Given the description of an element on the screen output the (x, y) to click on. 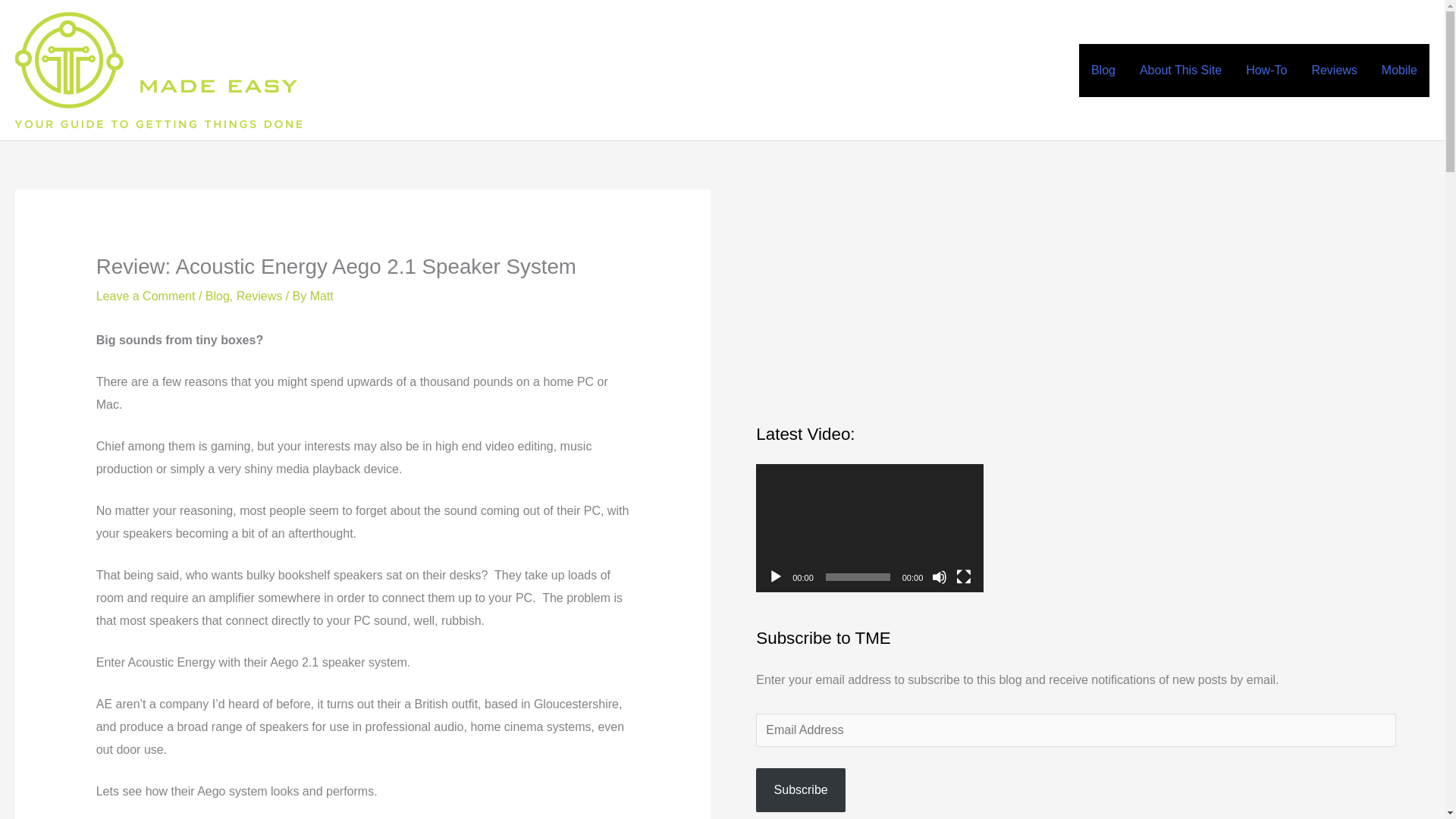
Leave a Comment (145, 295)
Blog (217, 295)
About This Site (1179, 70)
Blog (1102, 70)
Reviews (258, 295)
Mobile (1399, 70)
Reviews (1333, 70)
Fullscreen (963, 576)
Mute (939, 576)
Play (775, 576)
Matt (321, 295)
How-To (1265, 70)
View all posts by Matt (321, 295)
Subscribe (800, 789)
